Given the description of an element on the screen output the (x, y) to click on. 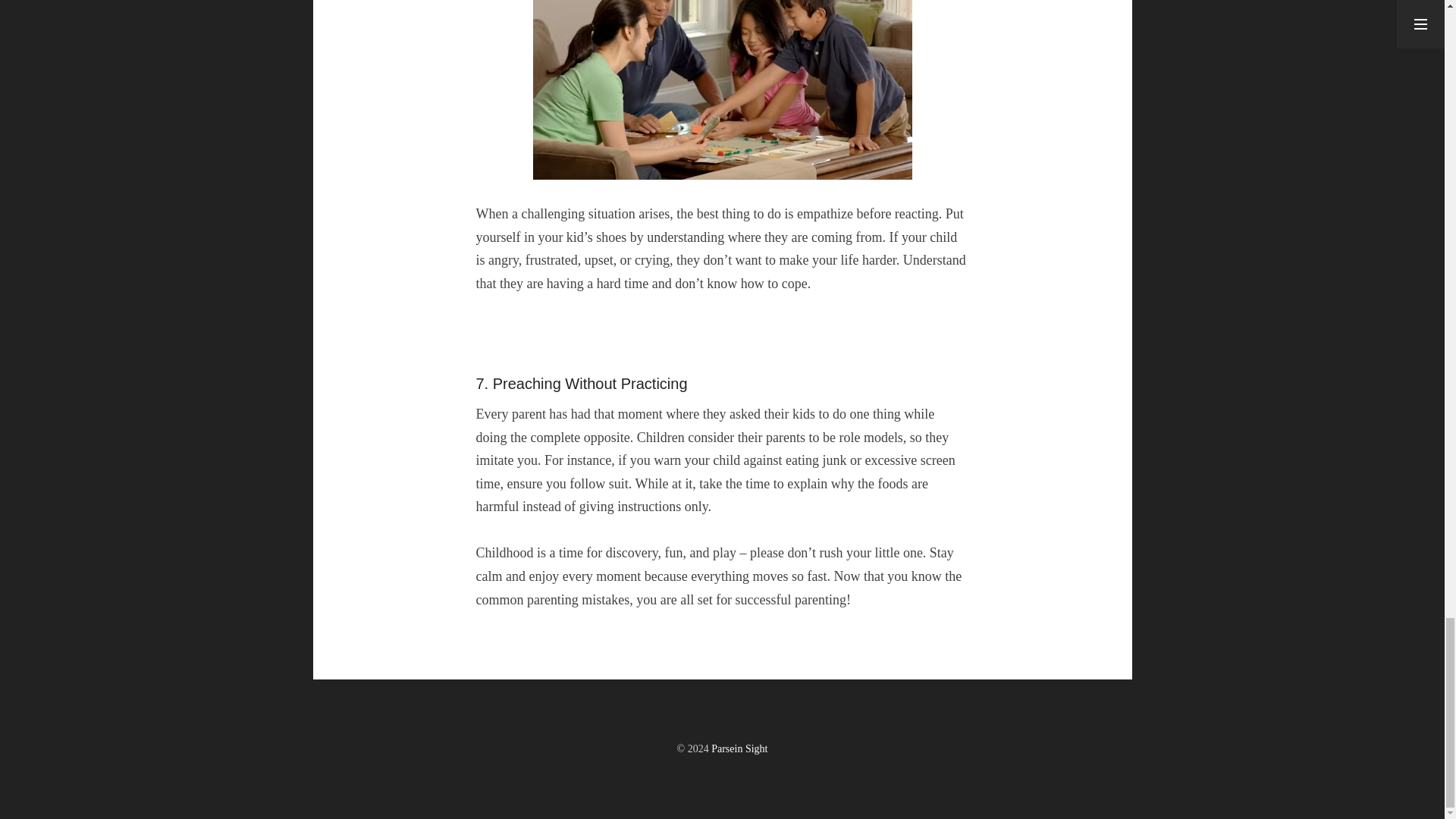
Parsein Sight (739, 748)
